Given the description of an element on the screen output the (x, y) to click on. 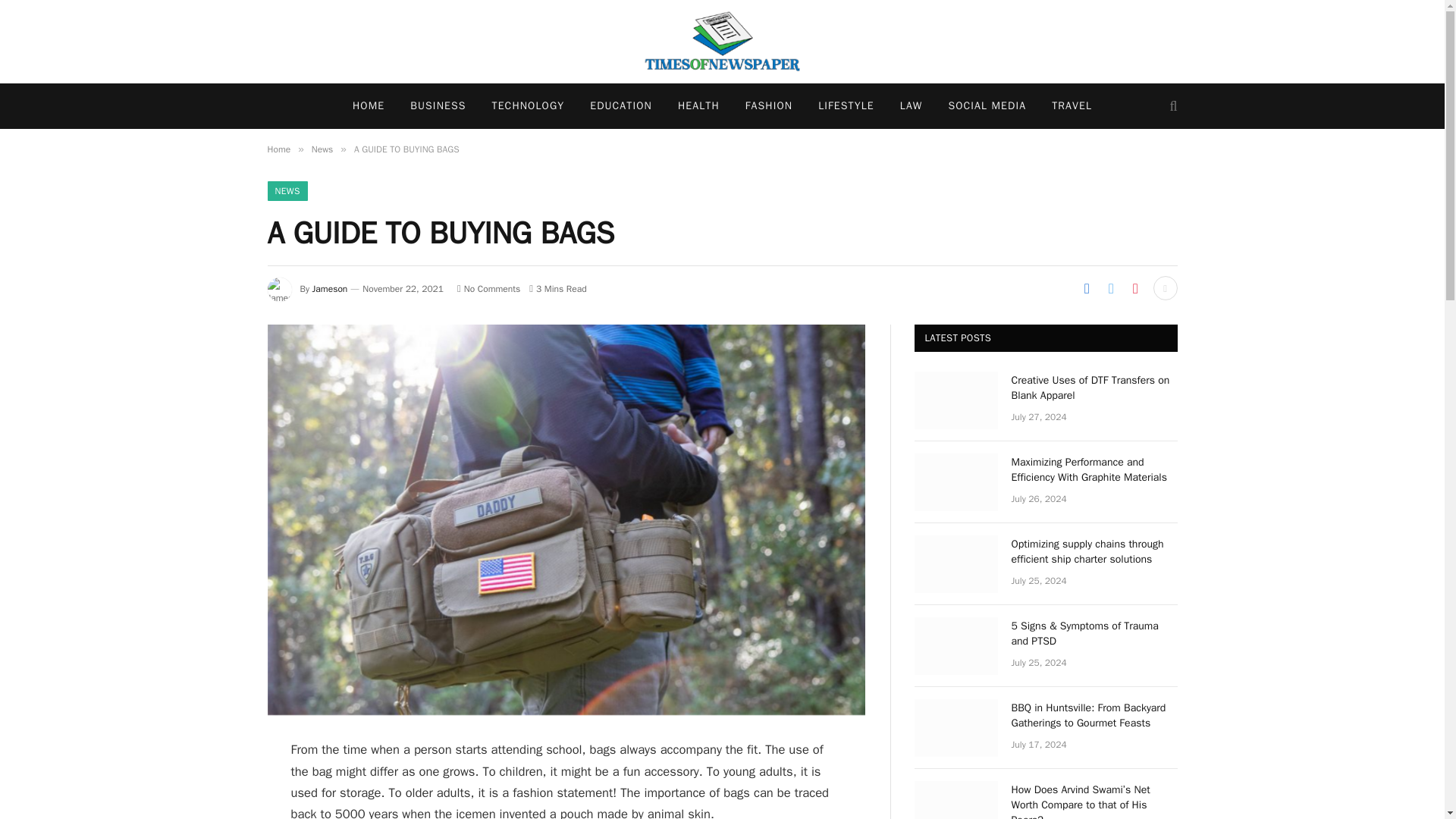
HEALTH (698, 105)
FASHION (768, 105)
Share on Pinterest (1135, 288)
Show More Social Sharing (1164, 288)
TECHNOLOGY (528, 105)
HOME (368, 105)
EDUCATION (620, 105)
Share on Facebook (1086, 288)
TRAVEL (1072, 105)
No Comments (488, 288)
Home (277, 149)
BUSINESS (438, 105)
Jameson (330, 288)
NEWS (286, 190)
